Given the description of an element on the screen output the (x, y) to click on. 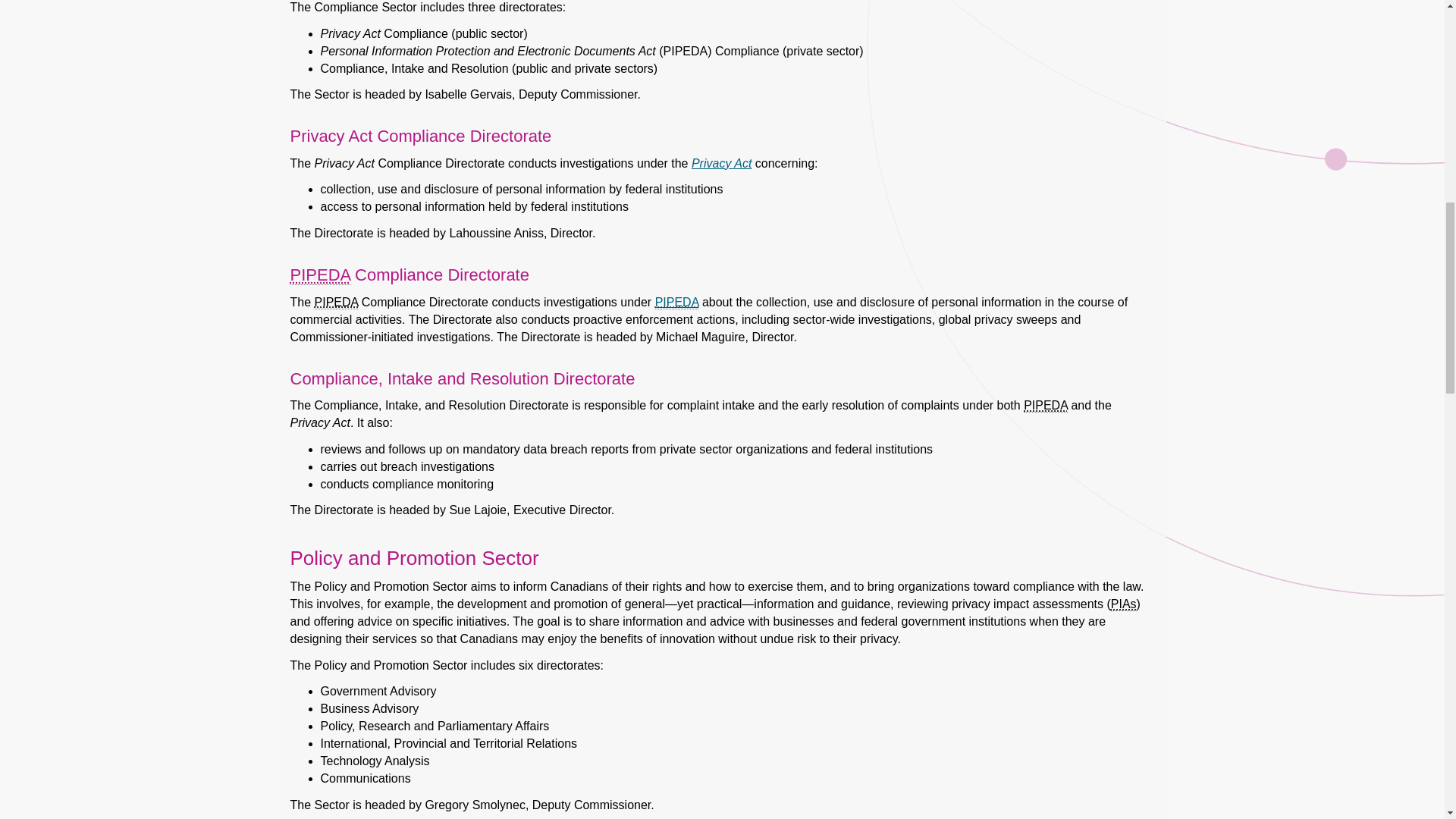
Privacy Act (721, 163)
PIPEDA (676, 302)
Personal Information Protection and Electronic Documents Act (336, 302)
Personal Information Protection and Electronic Documents Act (319, 275)
The Privacy Act (721, 163)
